Given the description of an element on the screen output the (x, y) to click on. 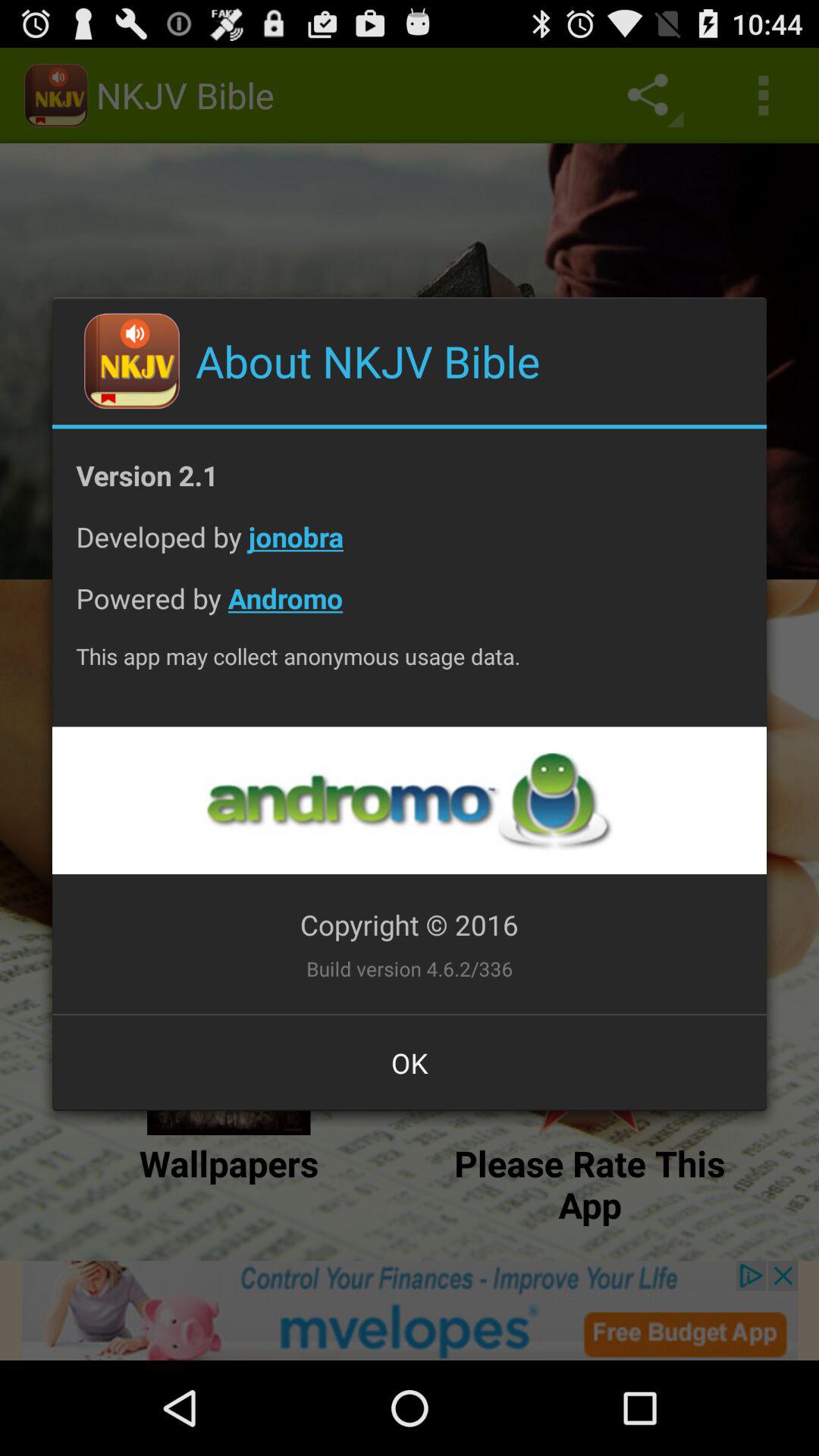
opens a link to the developer (408, 800)
